Given the description of an element on the screen output the (x, y) to click on. 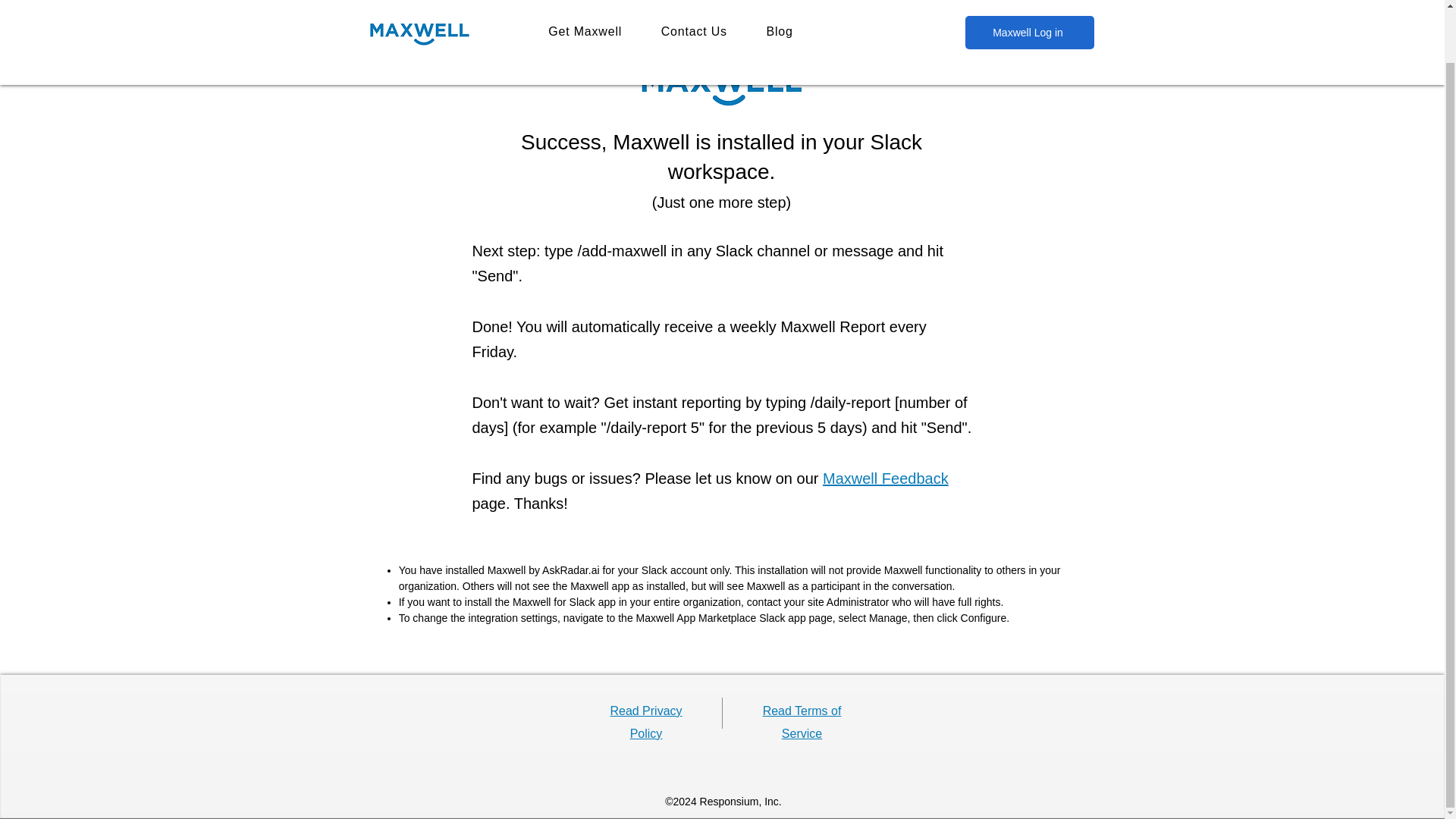
Read Privacy Policy (645, 722)
Maxwell Feedback (885, 478)
Read Terms of Service (801, 722)
